Given the description of an element on the screen output the (x, y) to click on. 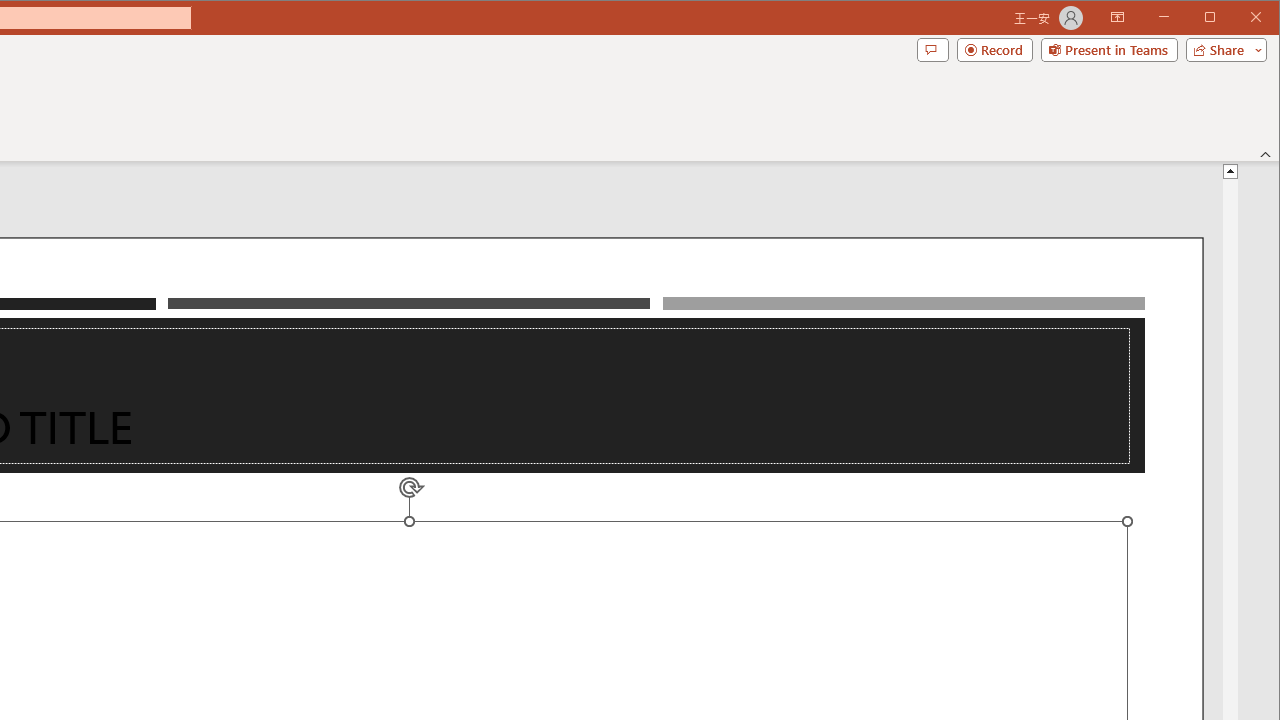
Maximize (1238, 18)
